Given the description of an element on the screen output the (x, y) to click on. 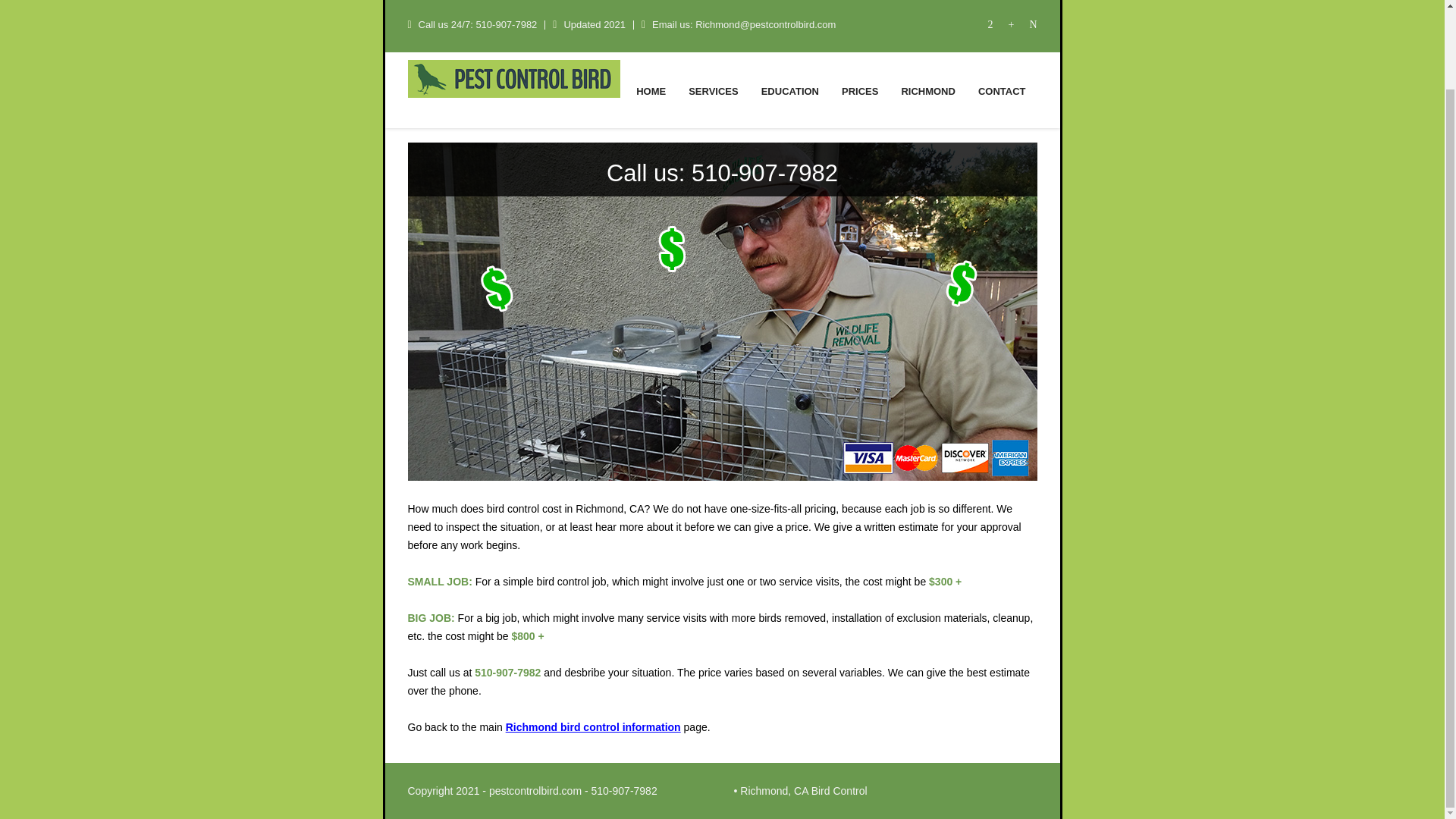
RICHMOND (927, 19)
SERVICES (713, 19)
EDUCATION (789, 19)
CONTACT (1001, 19)
HOME (650, 19)
PRICES (859, 19)
Richmond bird control information (593, 727)
